Given the description of an element on the screen output the (x, y) to click on. 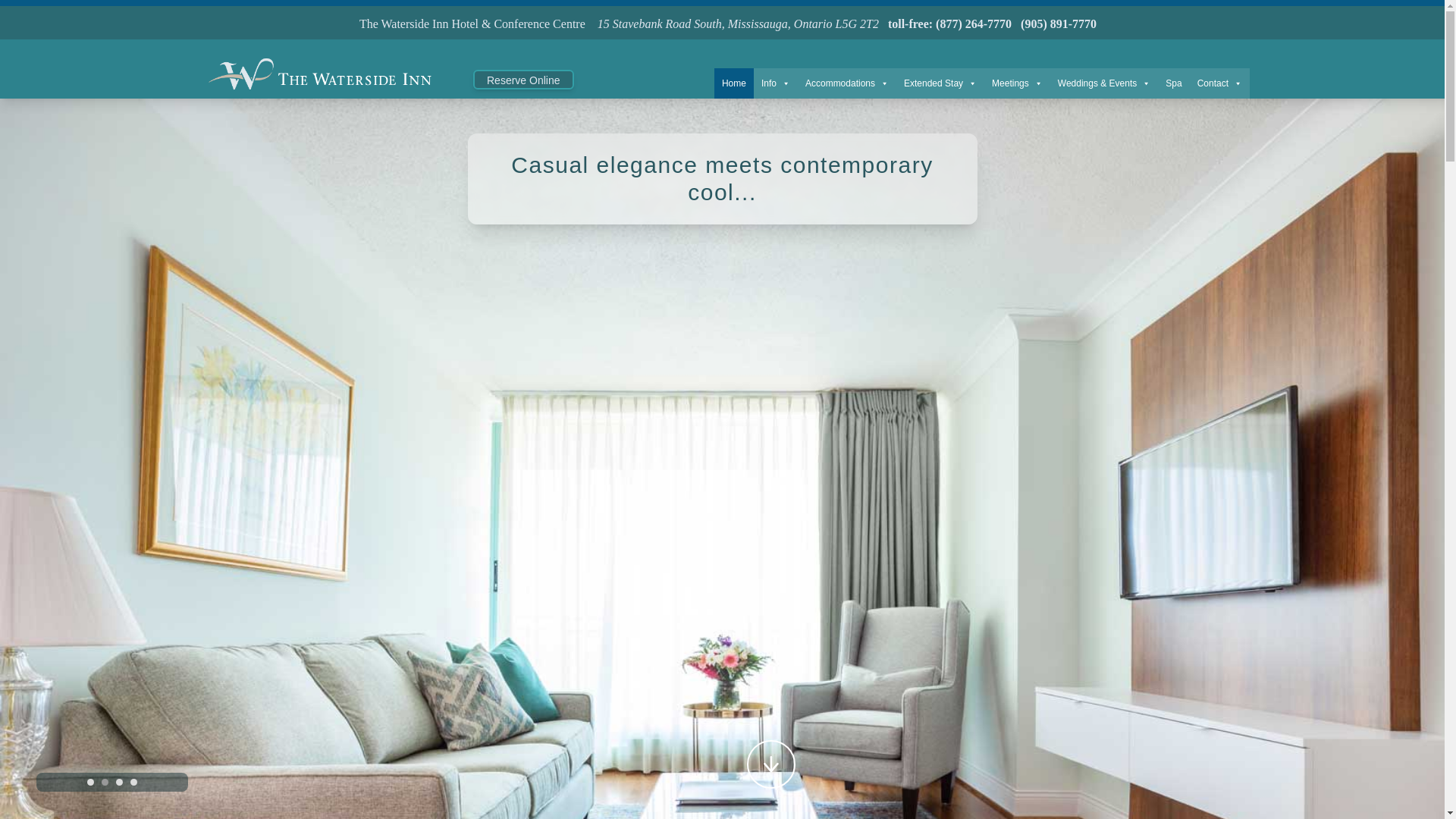
Reserve Online (523, 79)
Meetings (1016, 82)
Extended Stay (940, 82)
Home (734, 82)
Reserve Online (523, 79)
Info (775, 82)
Casual elegance meets contemporary cool... (721, 178)
Accommodations (846, 82)
